Given the description of an element on the screen output the (x, y) to click on. 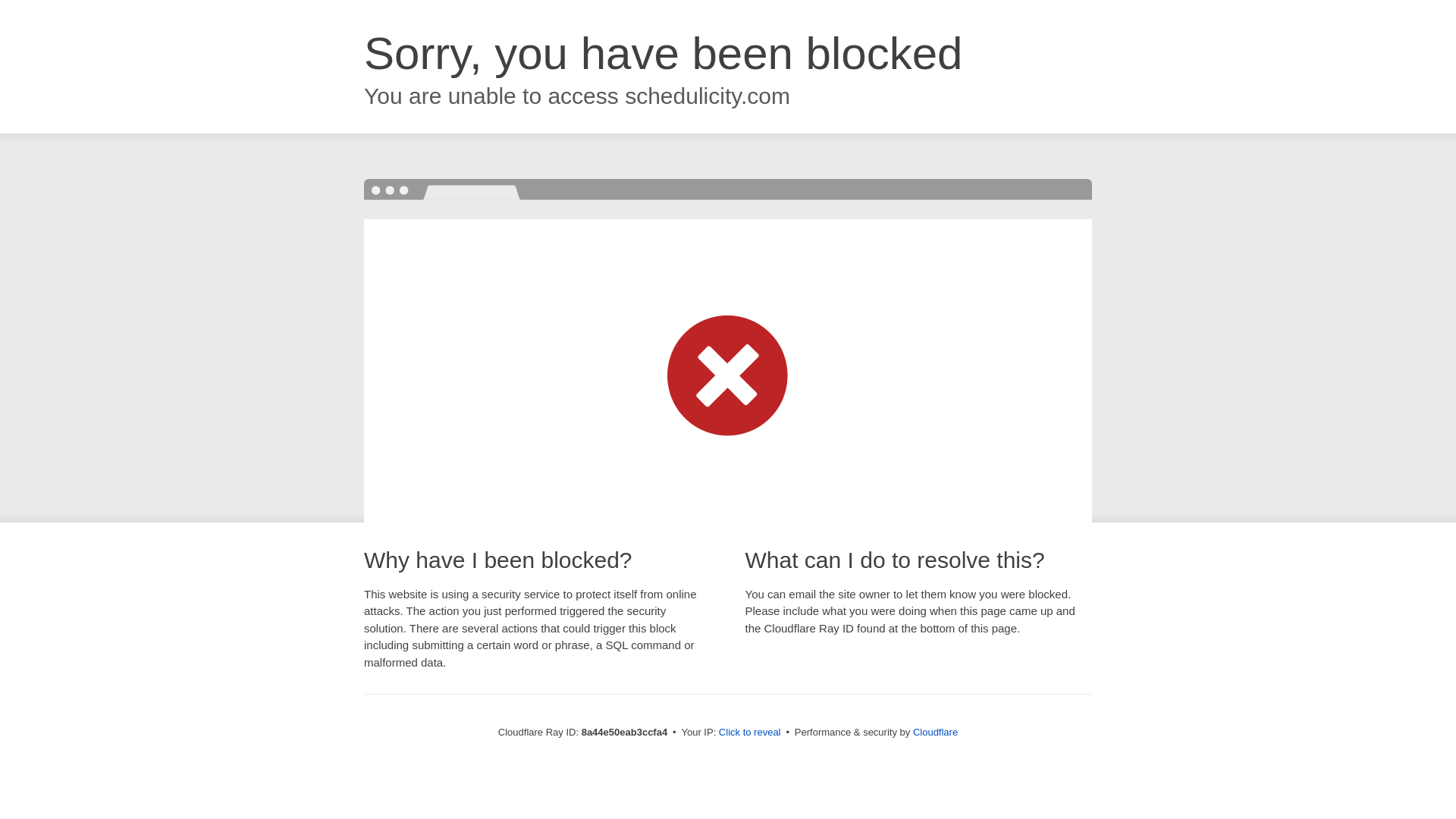
Cloudflare (935, 731)
Click to reveal (749, 732)
